Given the description of an element on the screen output the (x, y) to click on. 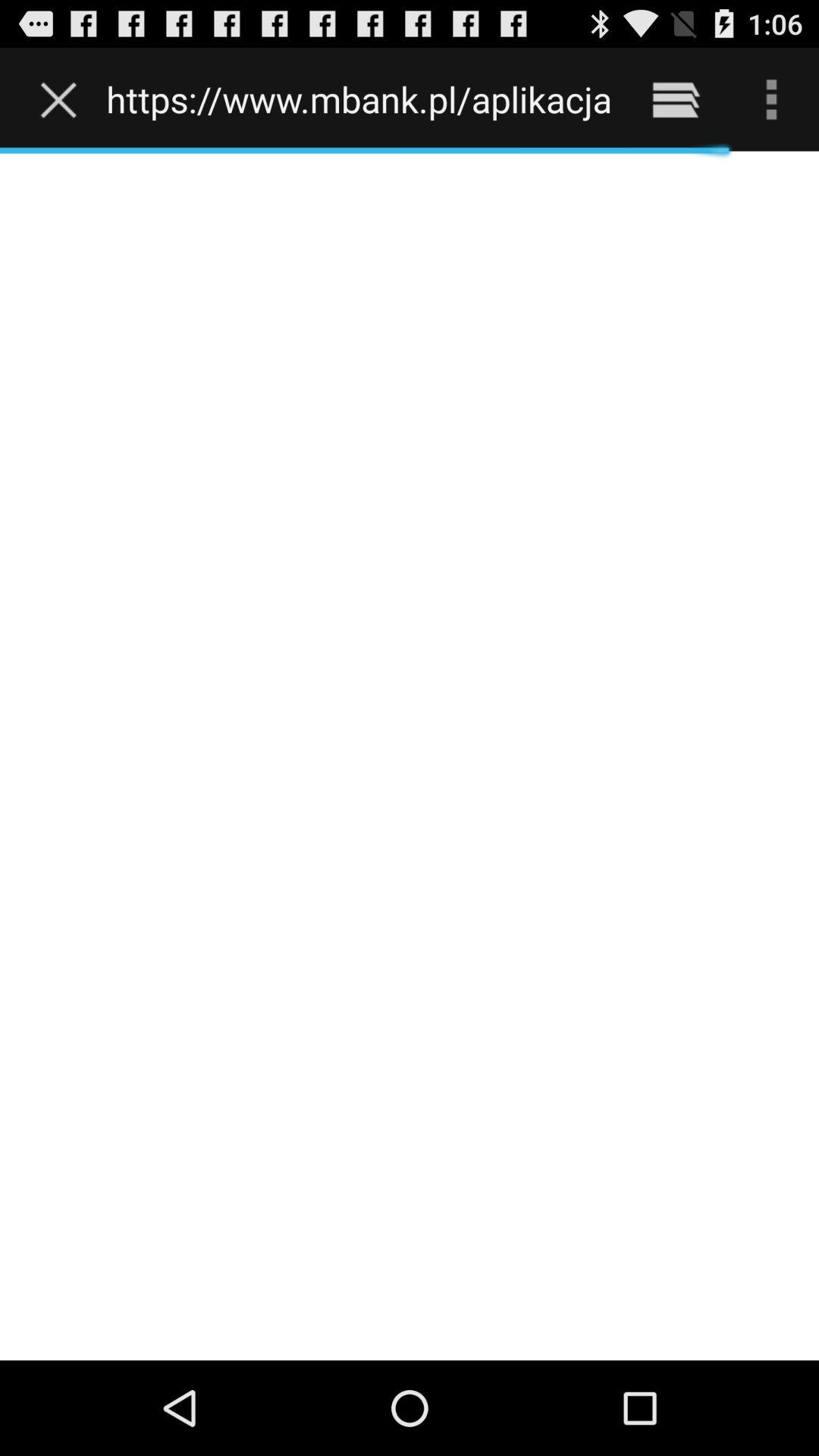
launch the item below https www mbank (409, 755)
